Given the description of an element on the screen output the (x, y) to click on. 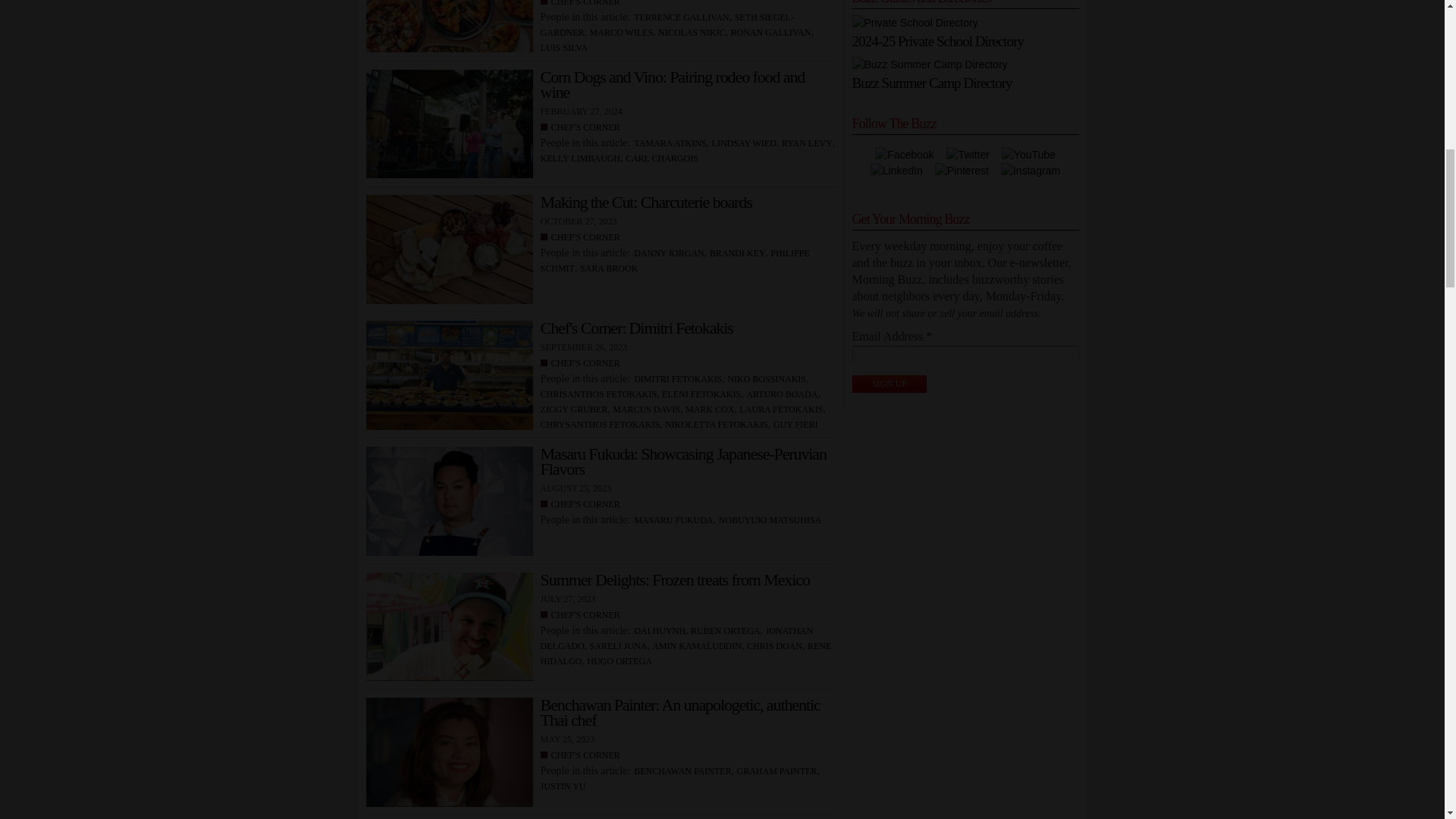
pizzas (452, 30)
A couple dances (452, 127)
Jonathan  (452, 629)
Benchawan Painter (452, 755)
Sign Up (889, 384)
Dimitri Fetokakis (452, 379)
Masaru Fukuda (452, 504)
